Given the description of an element on the screen output the (x, y) to click on. 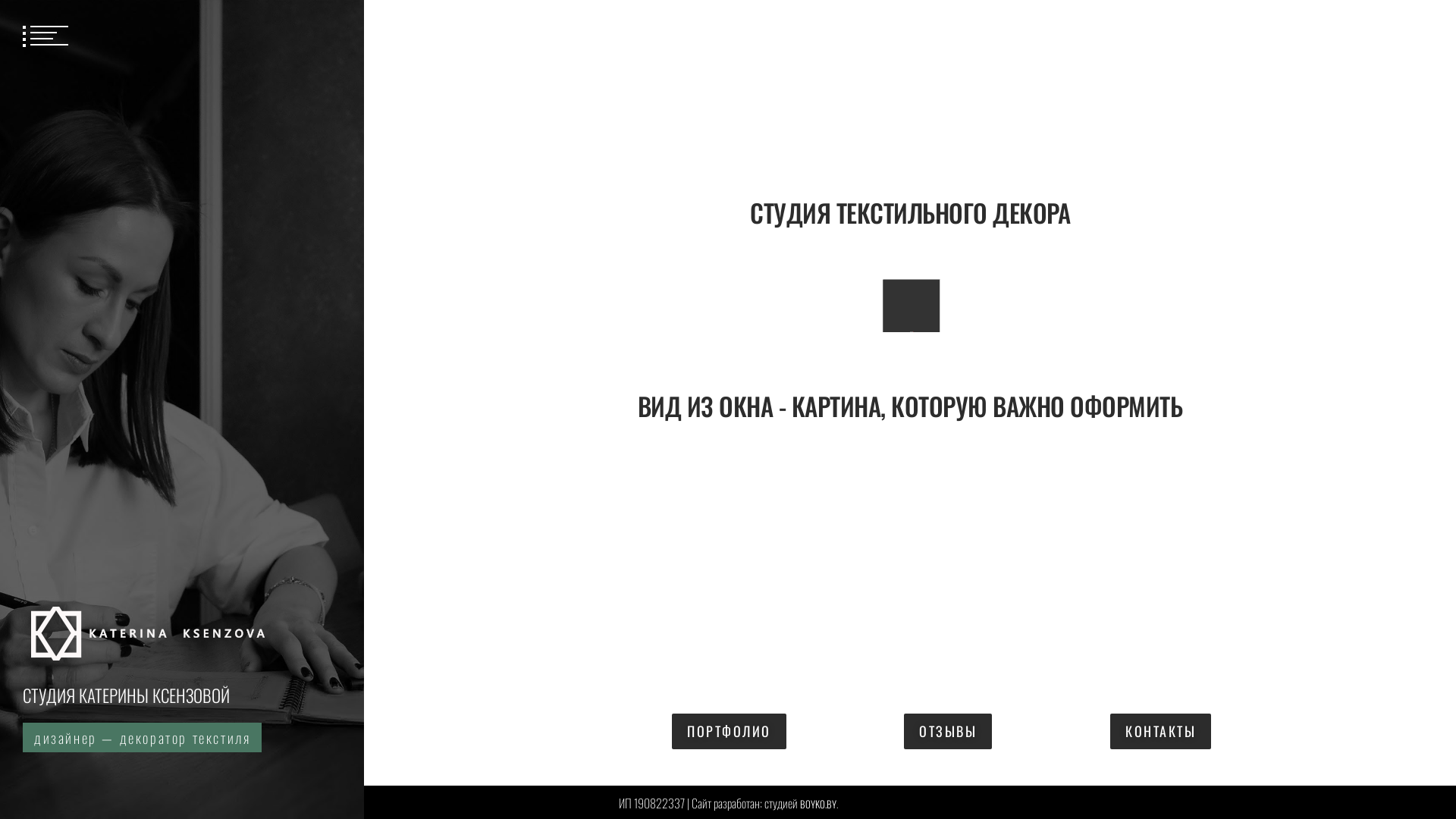
BOYKO.BY Element type: text (817, 800)
